Given the description of an element on the screen output the (x, y) to click on. 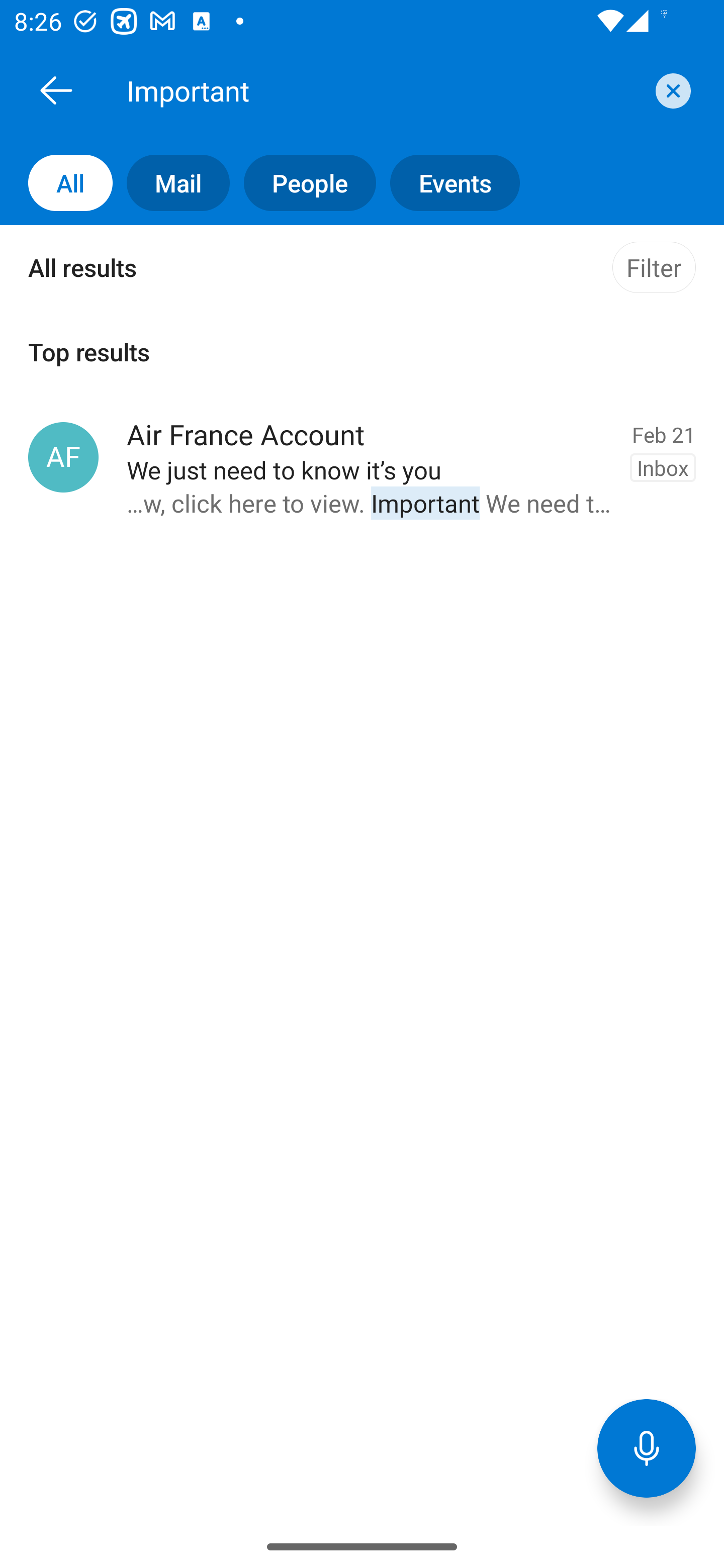
Back (55, 89)
Important (384, 89)
clear search (670, 90)
Mail (170, 183)
People (302, 183)
Events (447, 183)
Filter (653, 267)
Voice Assistant (646, 1447)
